Given the description of an element on the screen output the (x, y) to click on. 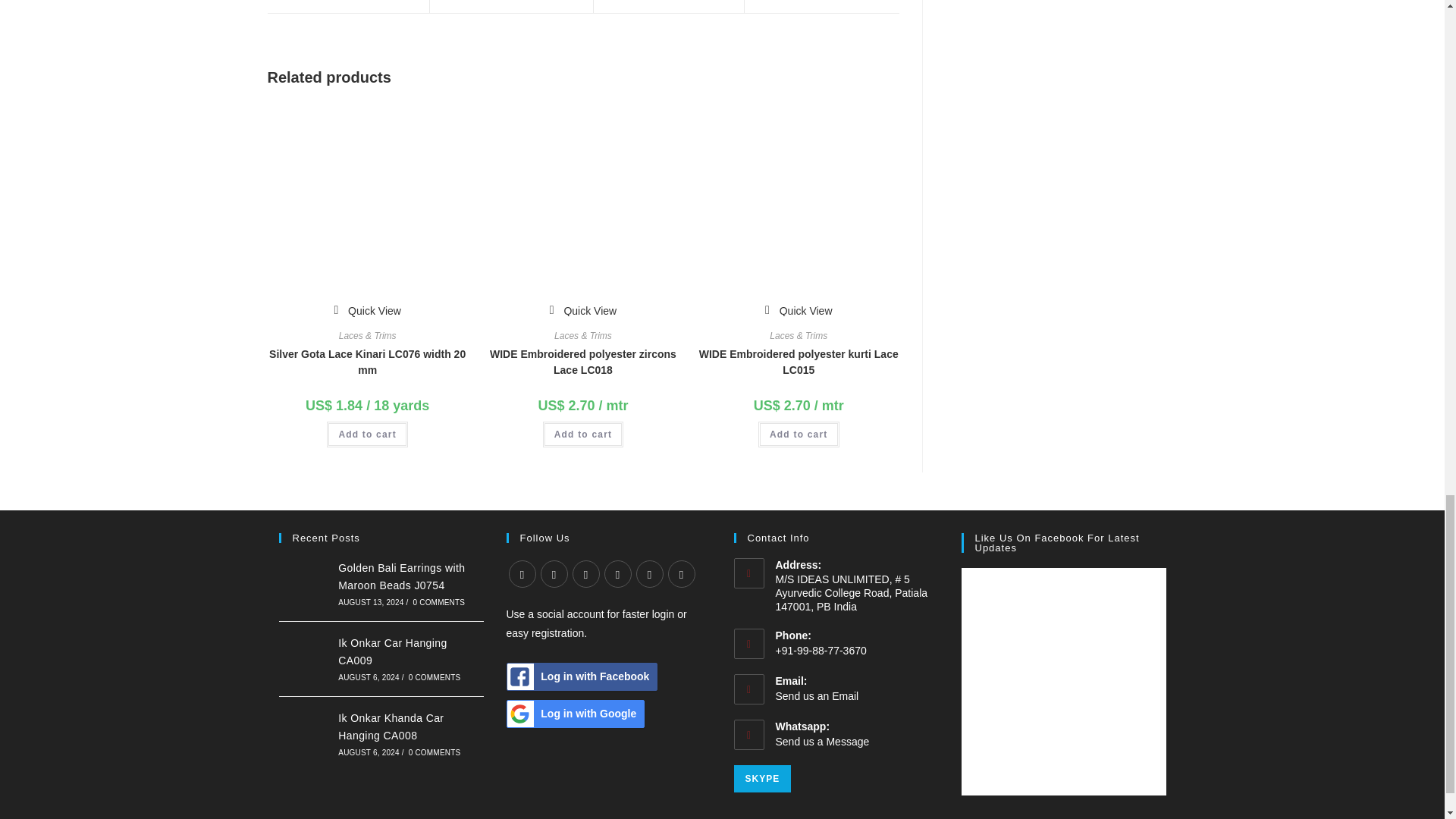
Golden Bali Earrings with Maroon Beads J0754 (304, 583)
Ik Onkar Khanda Car Hanging CA008 (304, 734)
Ik Onkar Car Hanging CA009 (304, 658)
